Given the description of an element on the screen output the (x, y) to click on. 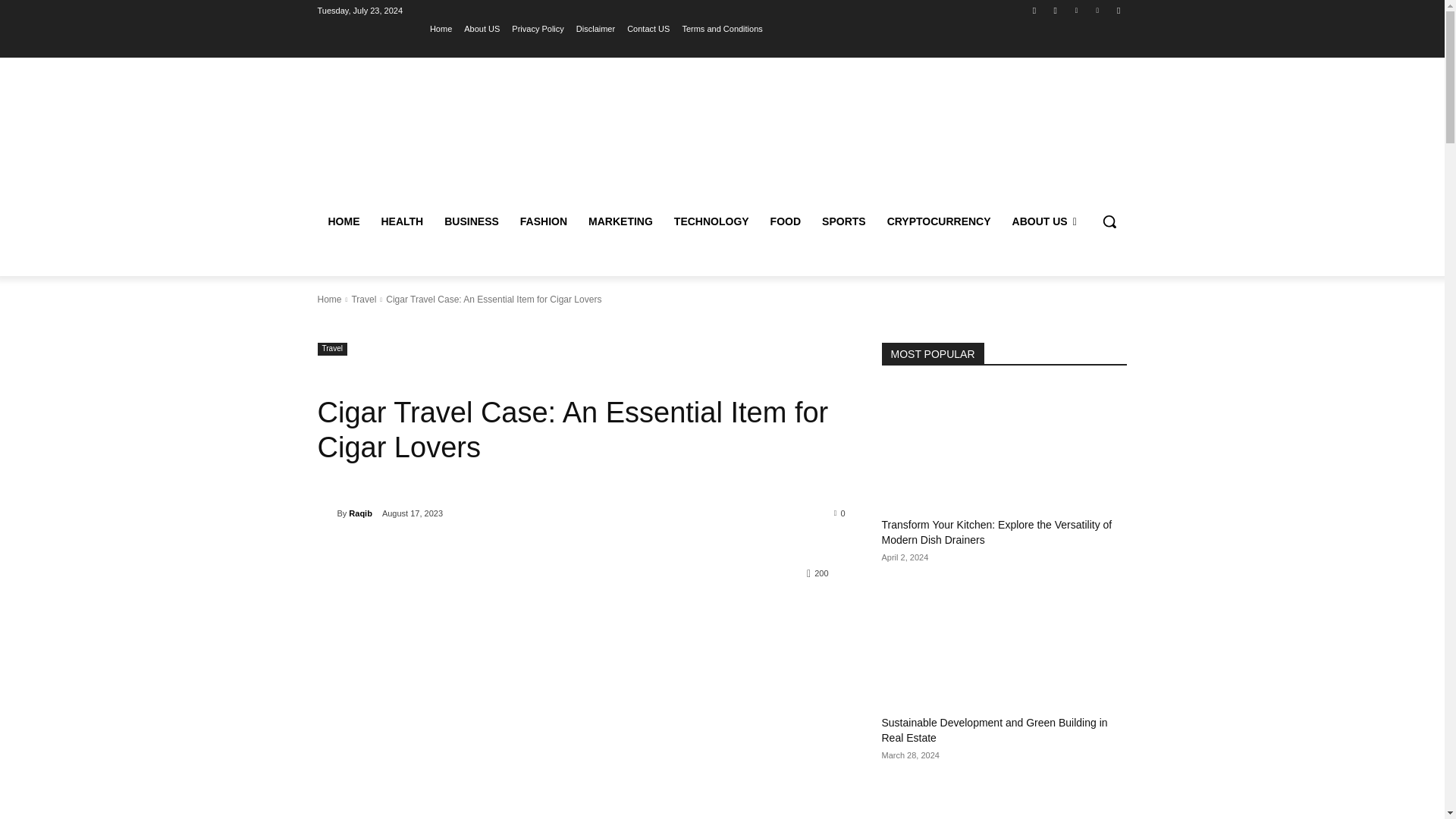
FOOD (785, 221)
BUSINESS (471, 221)
Twitter (1075, 9)
Terms and Conditions (721, 28)
Facebook (1034, 9)
SPORTS (843, 221)
HOME (343, 221)
About US (481, 28)
Youtube (1117, 9)
Contact US (648, 28)
Vimeo (1097, 9)
TECHNOLOGY (711, 221)
Privacy Policy (537, 28)
Disclaimer (595, 28)
CRYPTOCURRENCY (938, 221)
